Given the description of an element on the screen output the (x, y) to click on. 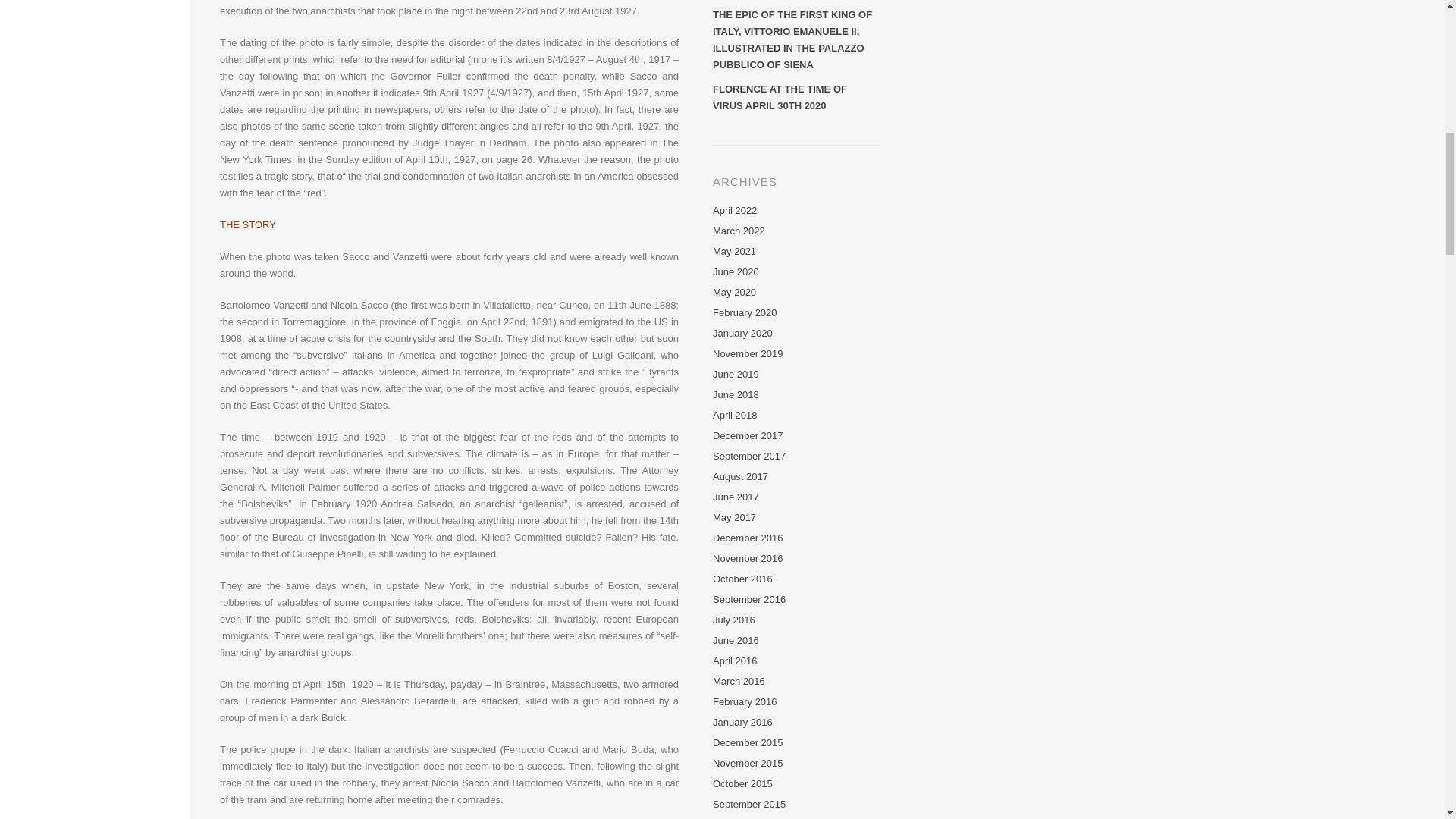
Vimeo (60, 15)
Twitter (82, 15)
June 2020 (735, 271)
INSTAGRAM (151, 15)
VIMEO (60, 15)
April 2022 (735, 210)
LinkedIn (128, 15)
Facebook (37, 15)
FACEBOOK (37, 15)
Instagram (151, 15)
